Given the description of an element on the screen output the (x, y) to click on. 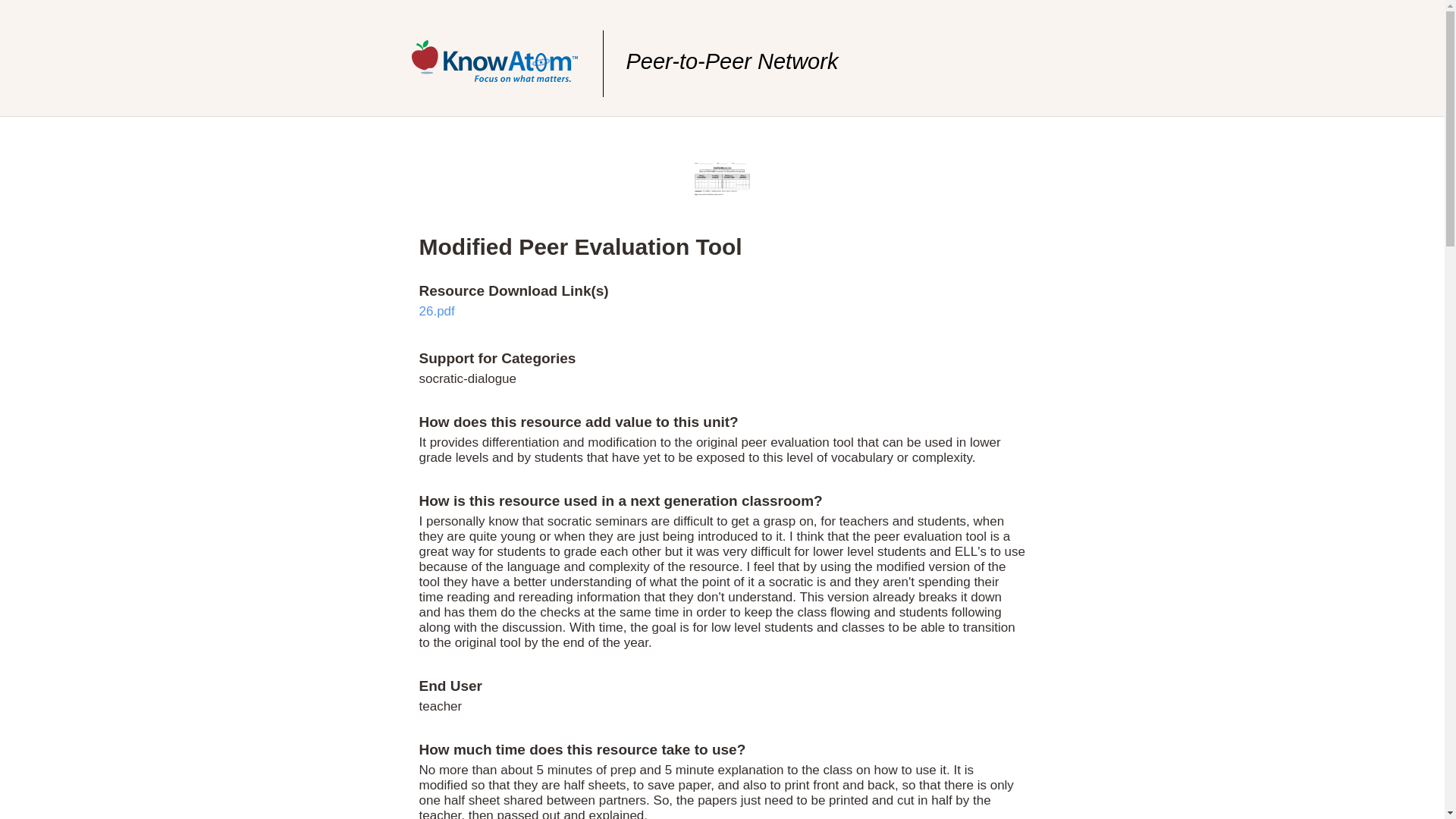
Permanent Link: Modified Peer Evaluation Tool (580, 246)
Modified Peer Evaluation Tool (580, 246)
Modified Peer Evaluation Tool (721, 189)
26.pdf (436, 310)
